Given the description of an element on the screen output the (x, y) to click on. 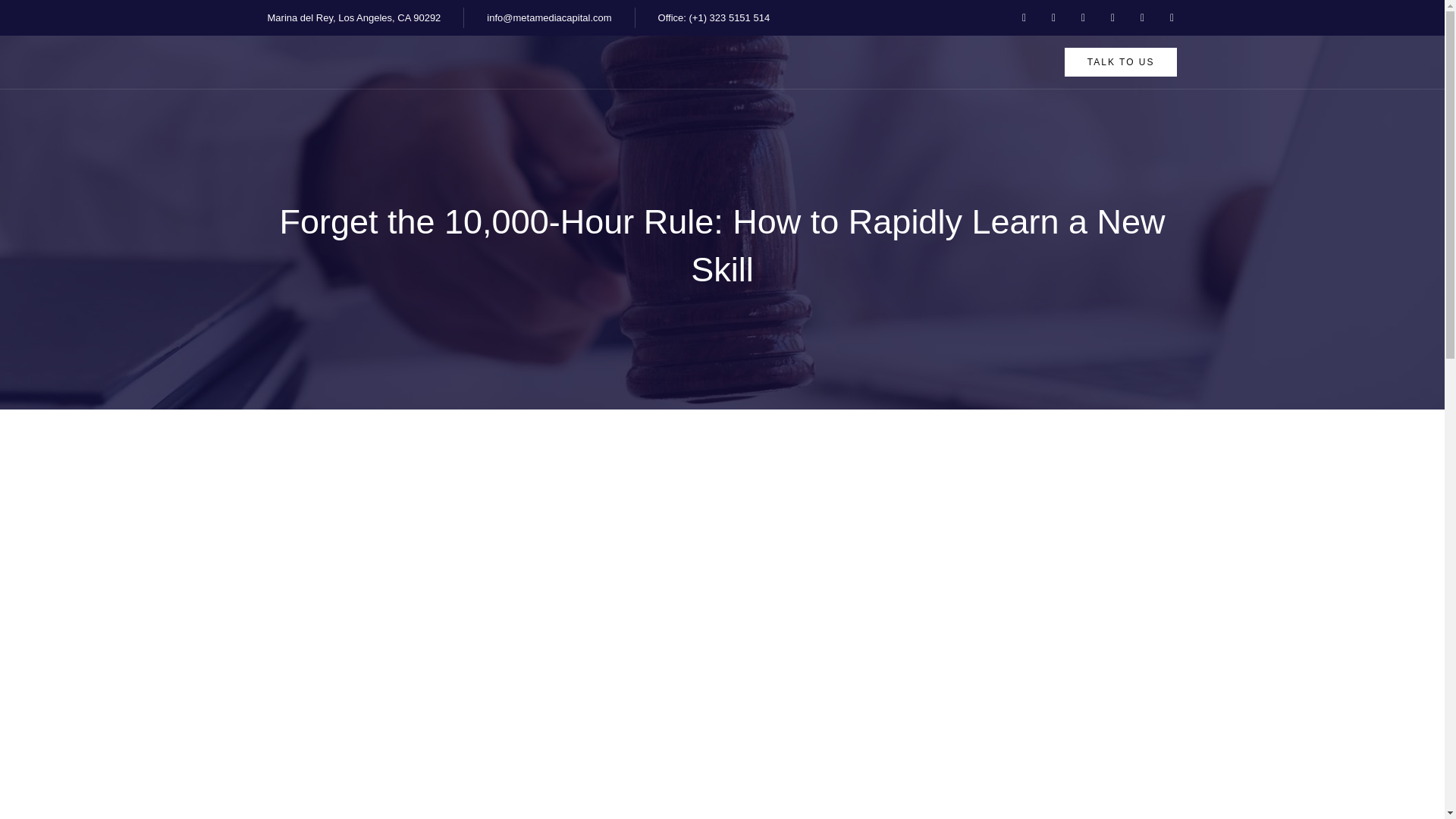
TALK TO US (1120, 61)
Marina del Rey, Los Angeles, CA 90292 (353, 17)
TALK TO US (1120, 61)
Marina del Rey, Los Angeles, CA 90292 (365, 17)
